Given the description of an element on the screen output the (x, y) to click on. 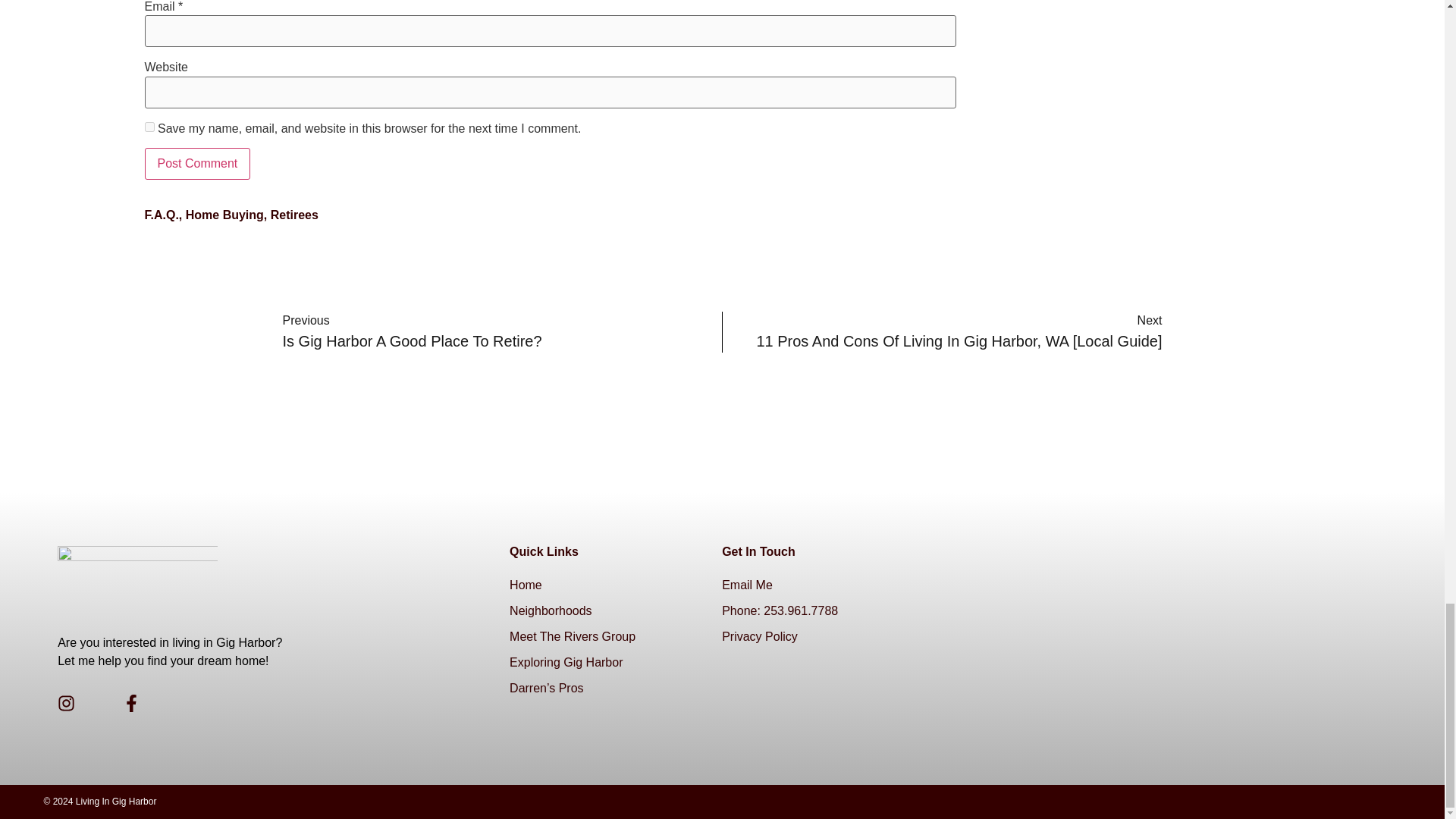
Post Comment (197, 163)
yes (149, 126)
